Given the description of an element on the screen output the (x, y) to click on. 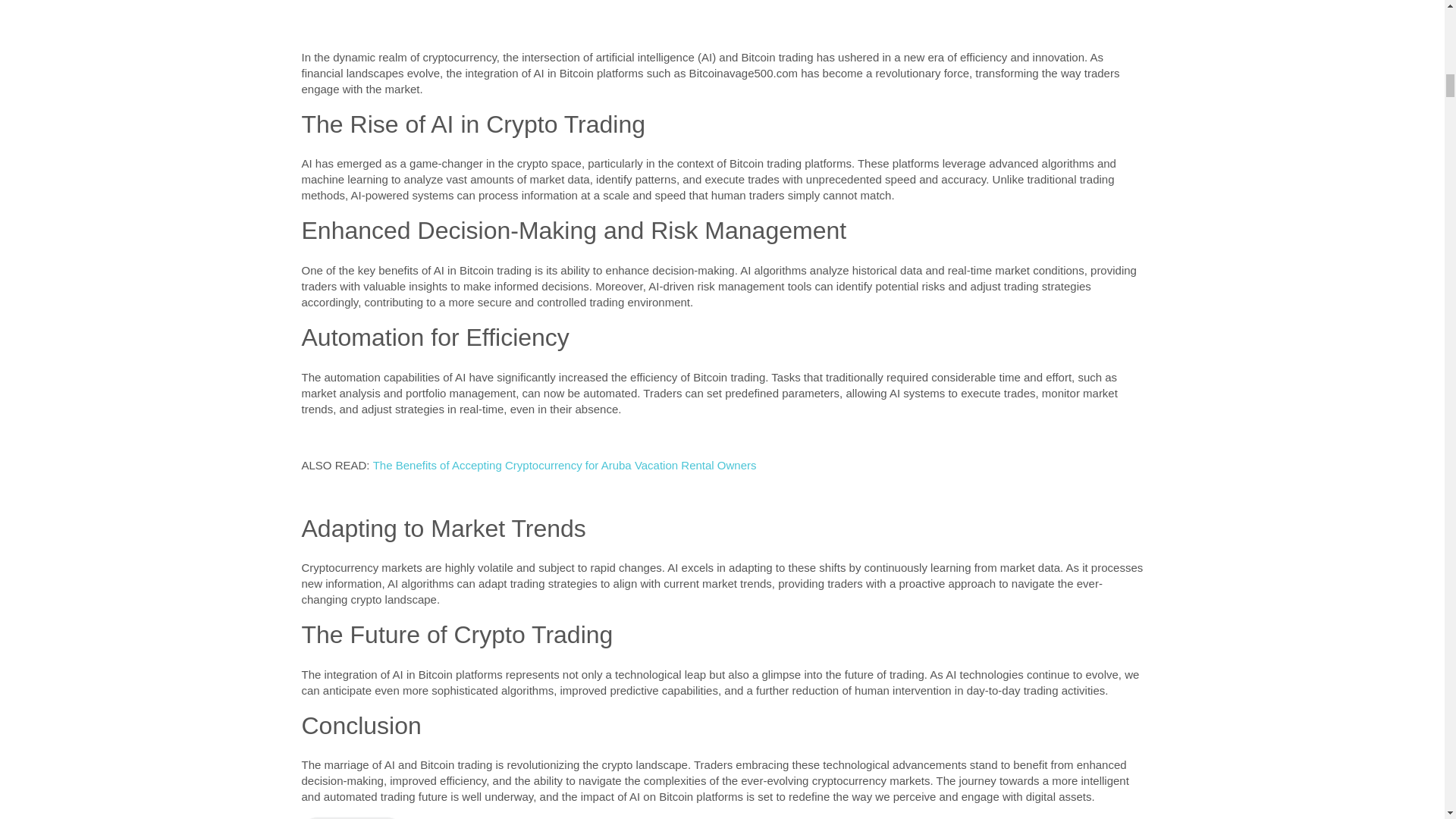
Read More (352, 817)
